Given the description of an element on the screen output the (x, y) to click on. 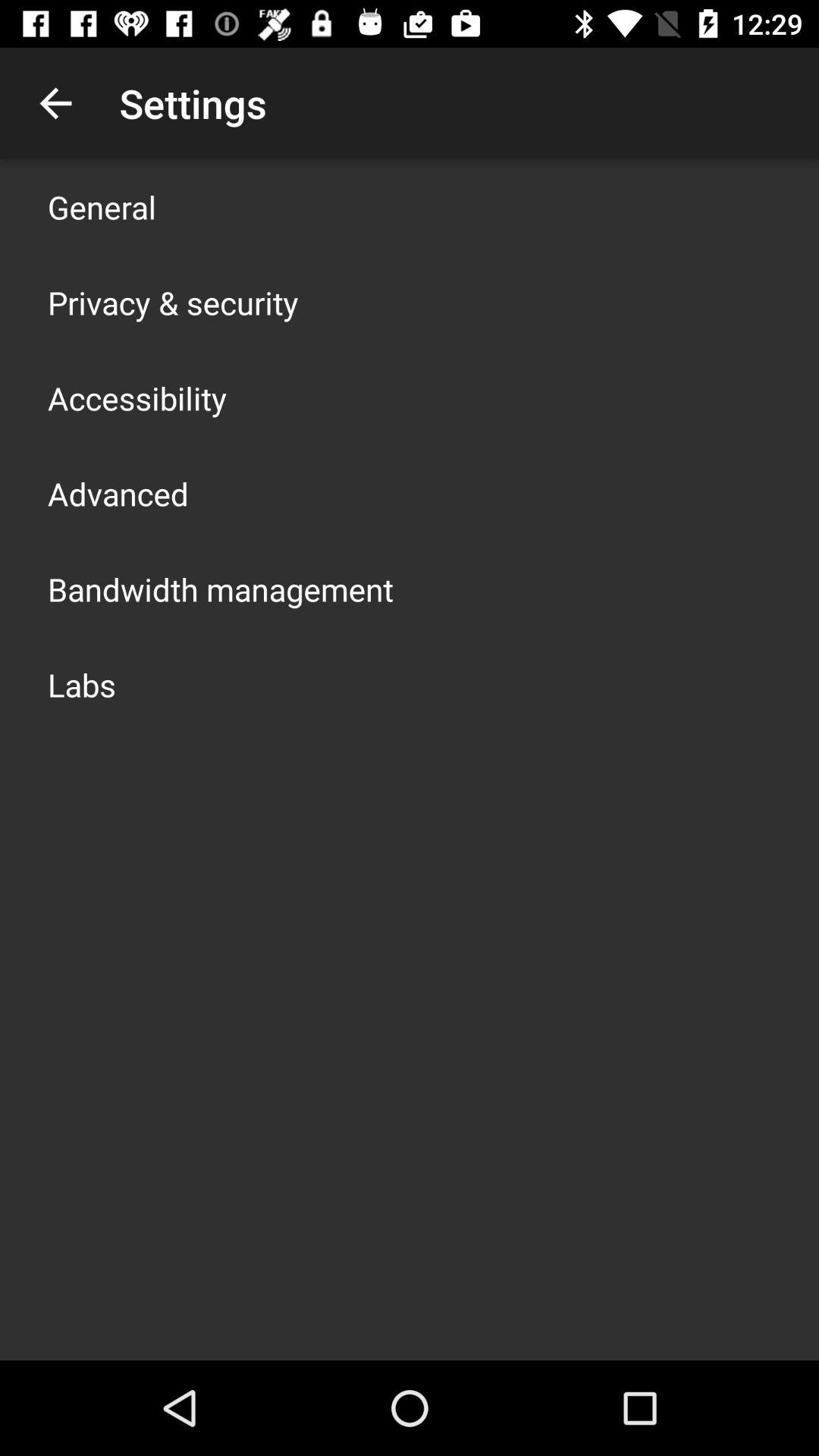
scroll to the privacy & security (172, 302)
